Given the description of an element on the screen output the (x, y) to click on. 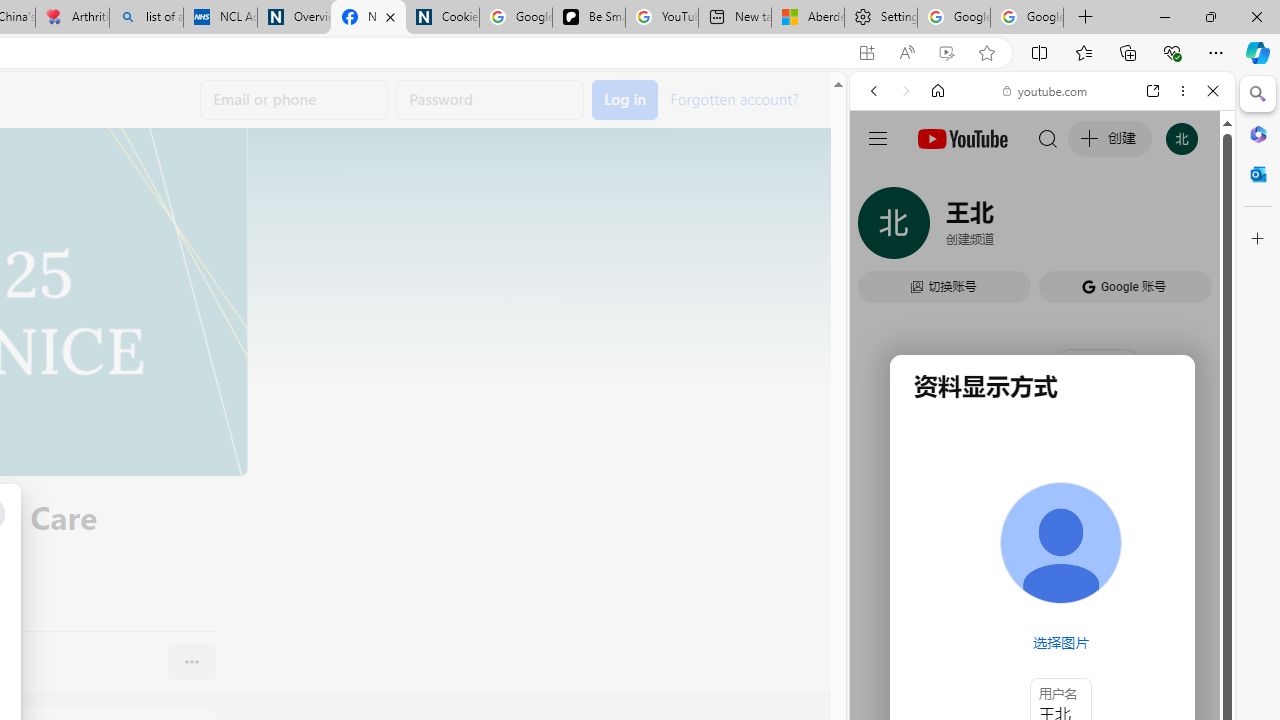
Password (489, 99)
Search Filter, WEB (882, 228)
Web scope (882, 180)
NCL Adult Asthma Inhaler Choice Guideline (220, 17)
Aberdeen, Hong Kong SAR hourly forecast | Microsoft Weather (807, 17)
#you (1042, 445)
Search videos from youtube.com (1005, 657)
